Given the description of an element on the screen output the (x, y) to click on. 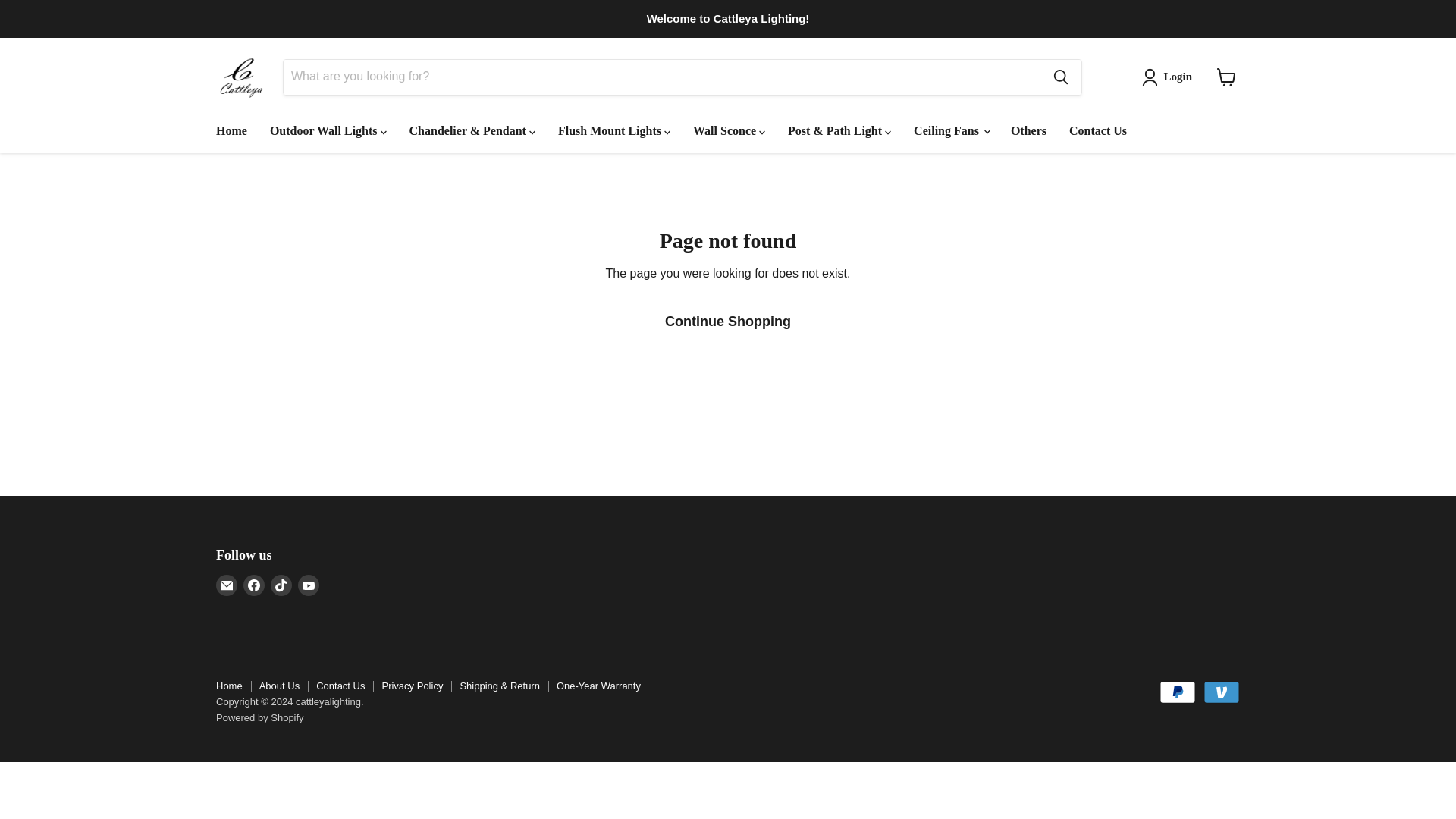
Contact Us (1098, 131)
Home (232, 131)
Login (1169, 76)
YouTube (308, 585)
Others (1028, 131)
Email (226, 585)
PayPal (1176, 691)
TikTok (281, 585)
Venmo (1222, 691)
View cart (1226, 77)
Facebook (253, 585)
